Given the description of an element on the screen output the (x, y) to click on. 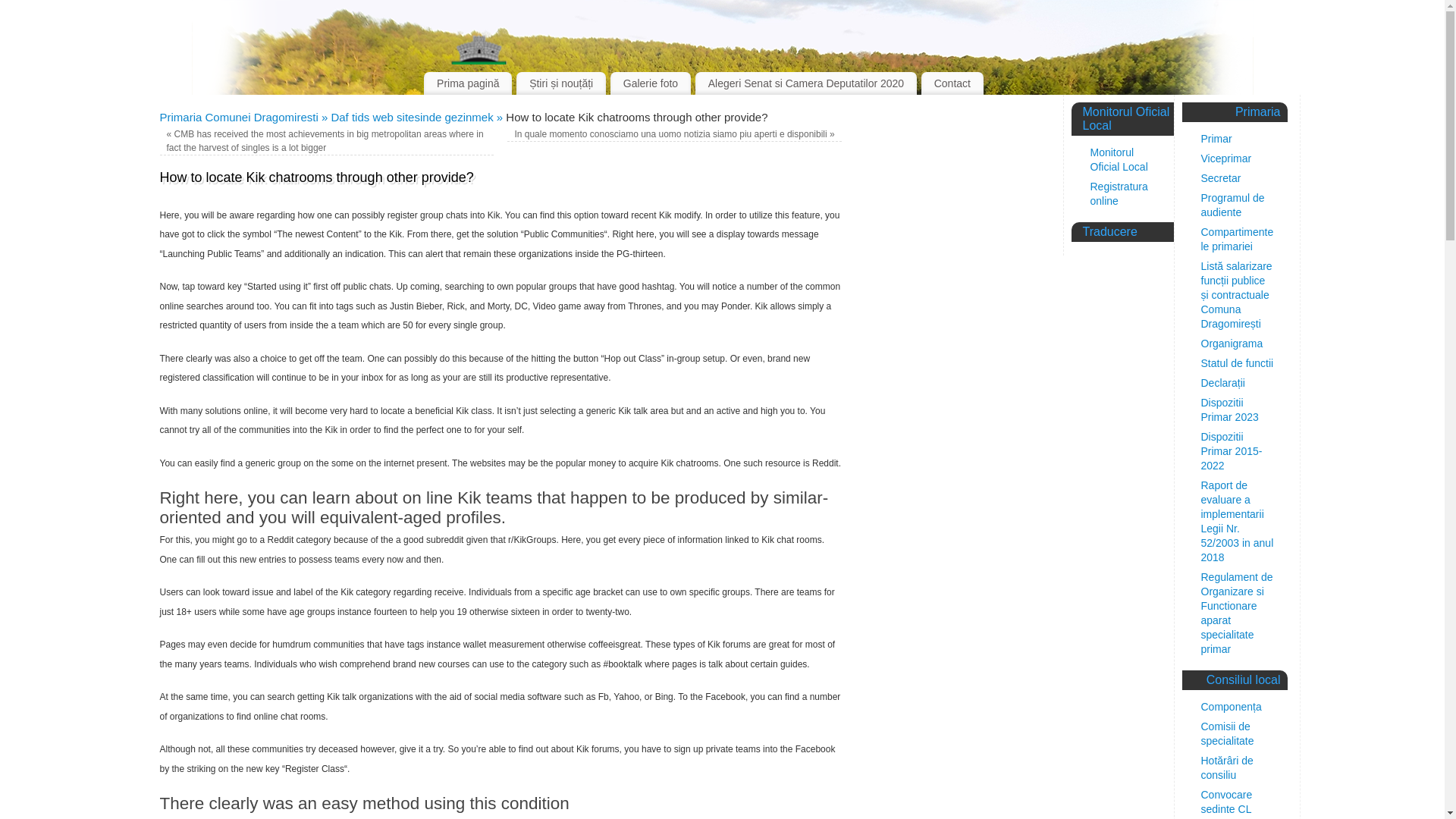
Contact (952, 83)
Viceprimar (1226, 158)
Compartimentele primariei (1237, 239)
Primar (1216, 138)
Programul de audiente (1233, 204)
Galerie foto (650, 83)
Secretar (1221, 177)
Alegeri Senat si Camera Deputatilor 2020 (806, 83)
